Given the description of an element on the screen output the (x, y) to click on. 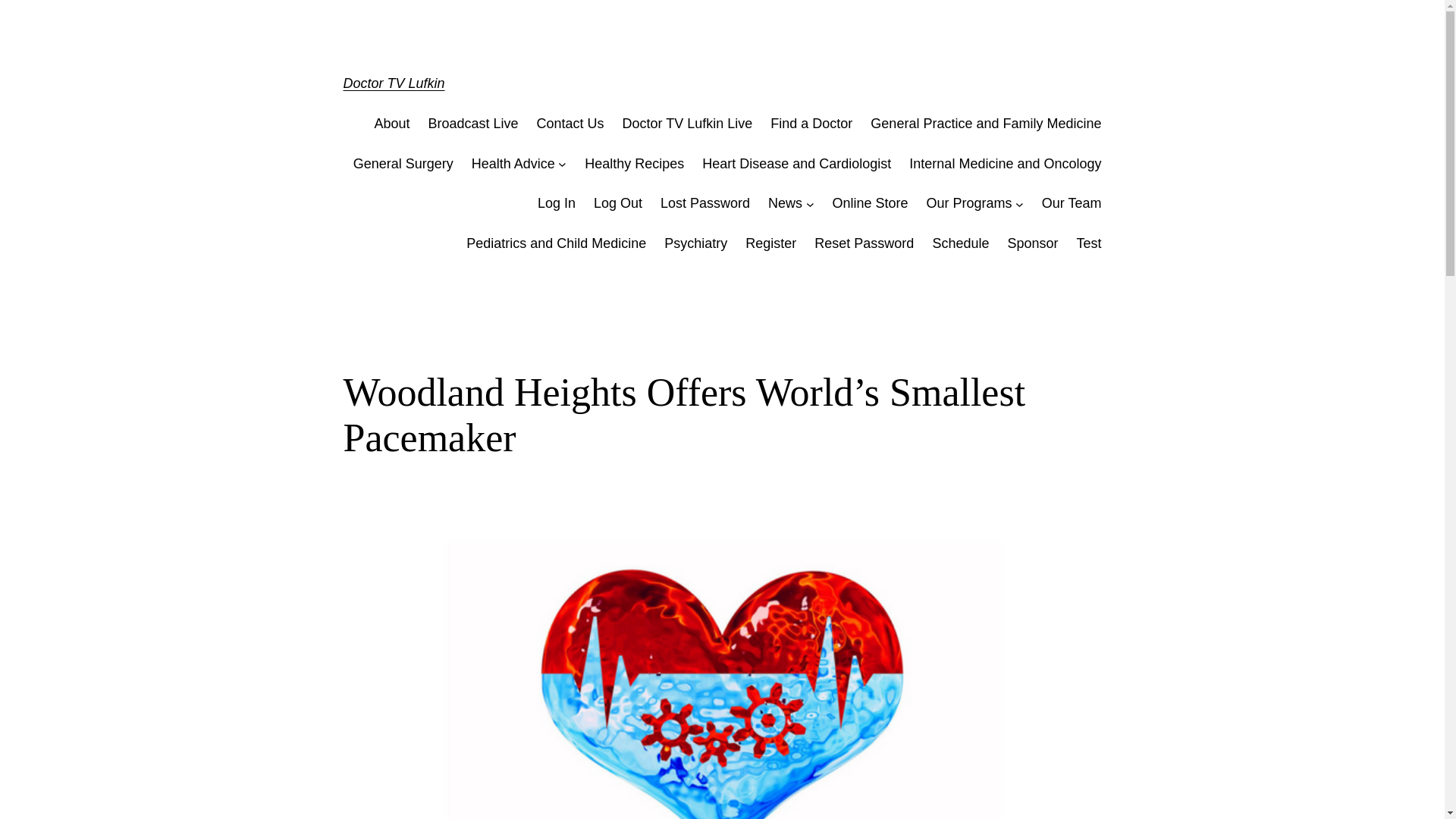
Internal Medicine and Oncology (1004, 164)
Online Store (869, 203)
Doctor TV Lufkin (393, 83)
News (785, 203)
Doctor TV Lufkin Live (687, 124)
General Surgery (402, 164)
Our Programs (968, 203)
Log In (556, 203)
Health Advice (512, 164)
Heart Disease and Cardiologist (796, 164)
Healthy Recipes (634, 164)
Broadcast Live (473, 124)
Lost Password (705, 203)
Find a Doctor (810, 124)
Log Out (618, 203)
